Given the description of an element on the screen output the (x, y) to click on. 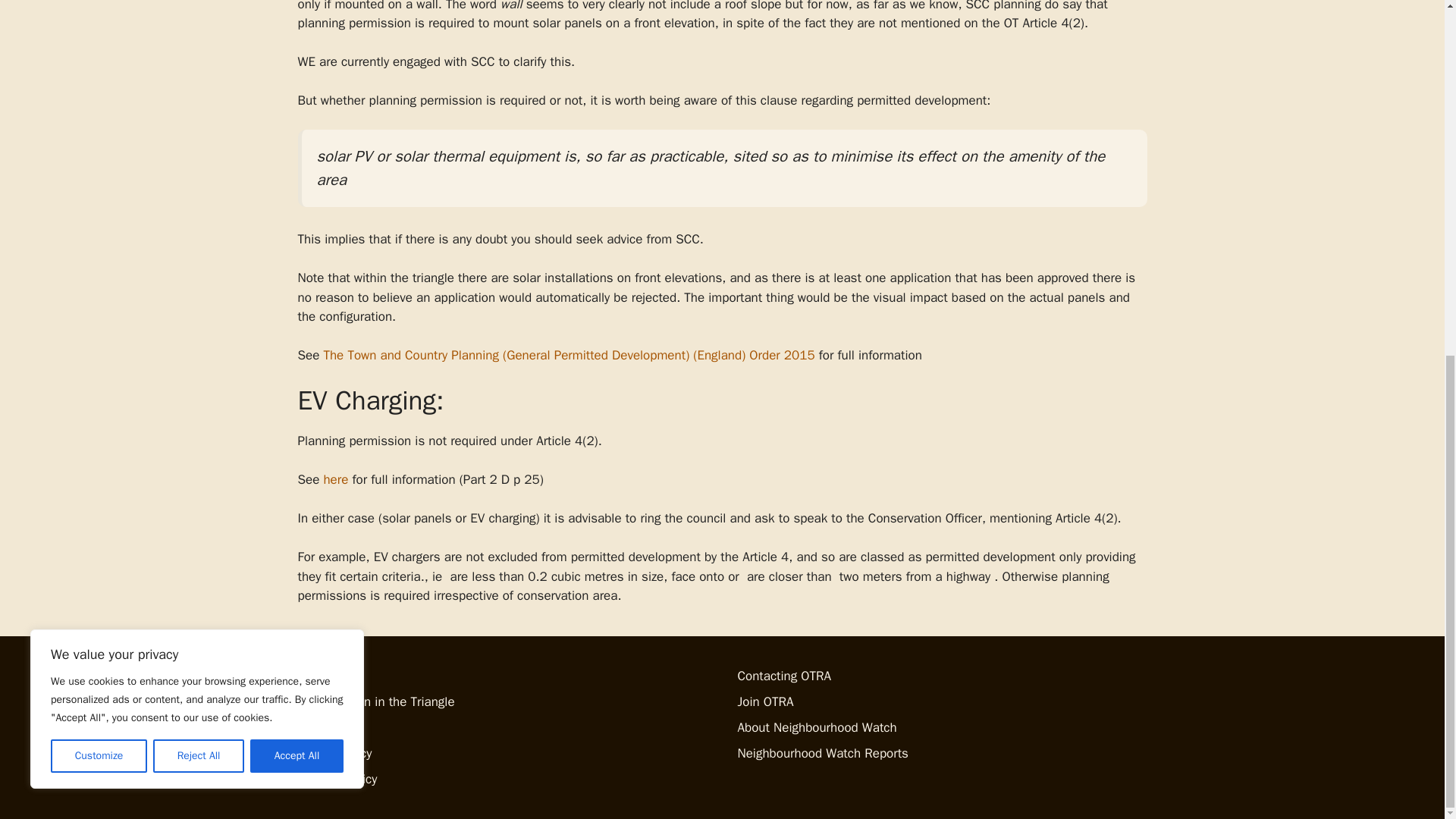
Customize (98, 131)
Accept All (296, 131)
Reject All (198, 131)
